Given the description of an element on the screen output the (x, y) to click on. 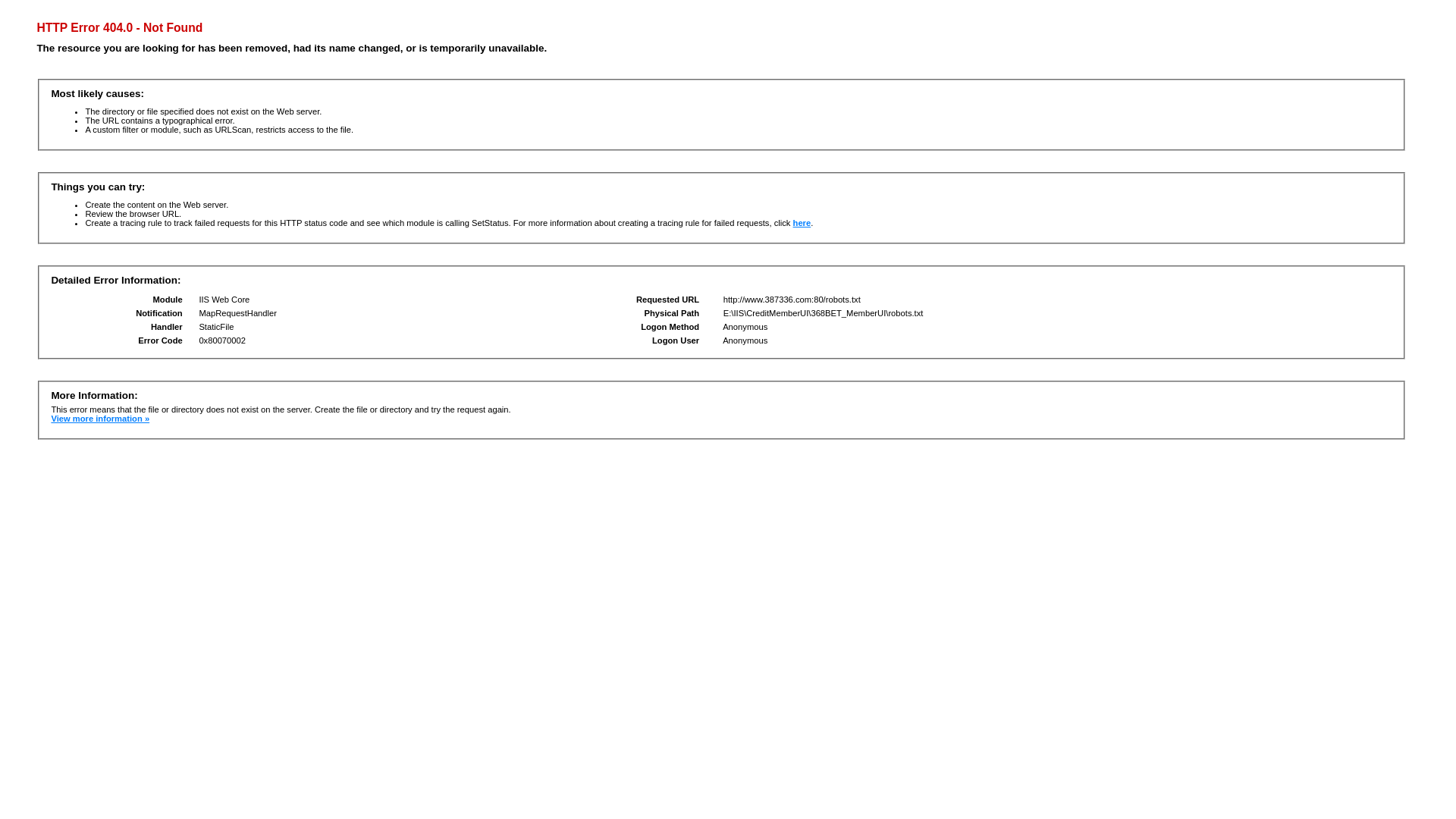
here Element type: text (802, 222)
